Given the description of an element on the screen output the (x, y) to click on. 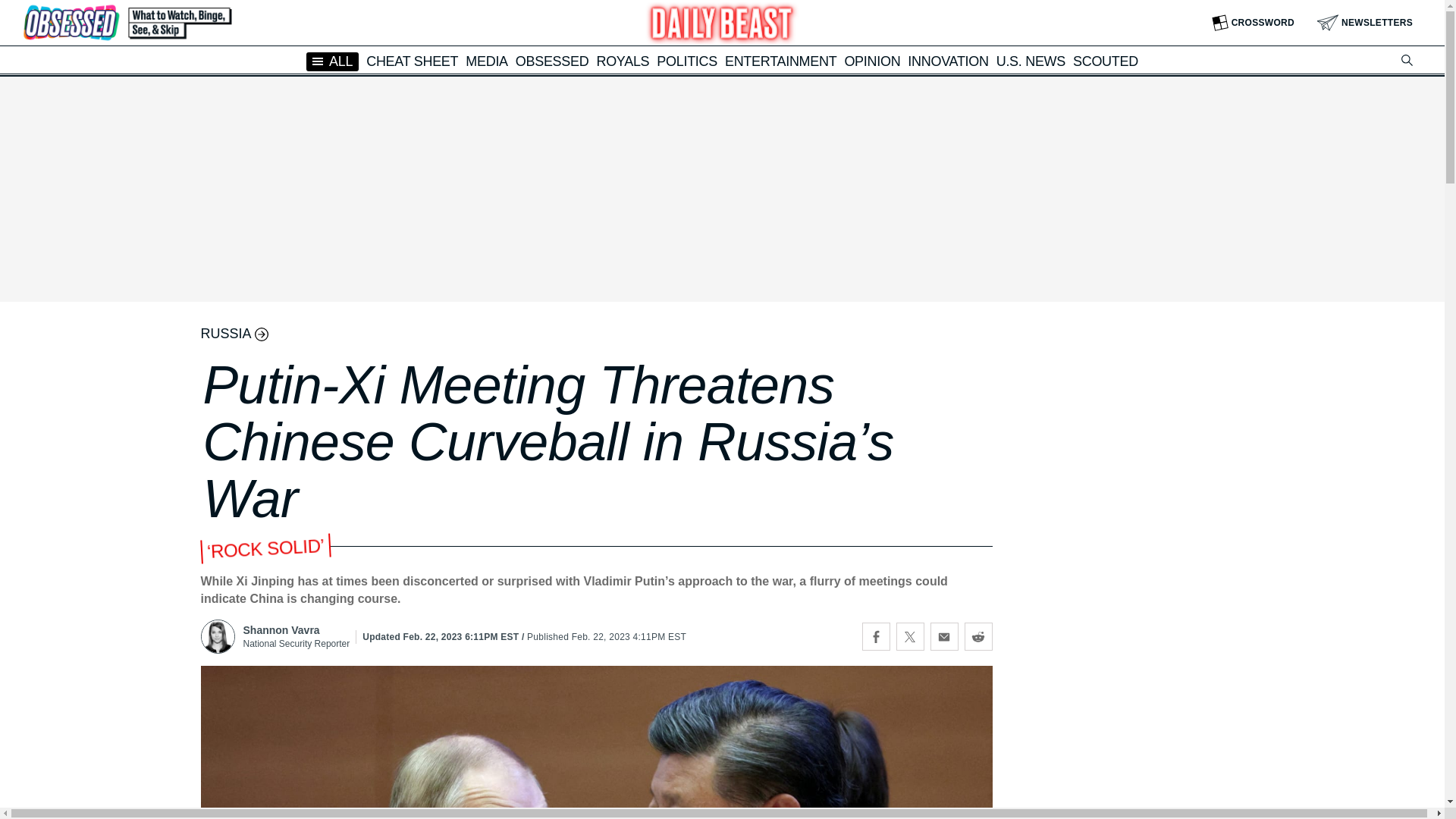
NEWSLETTERS (1364, 22)
ENTERTAINMENT (780, 60)
OBSESSED (552, 60)
CROSSWORD (1252, 22)
OPINION (871, 60)
U.S. NEWS (1030, 60)
SCOUTED (1105, 60)
ROYALS (622, 60)
MEDIA (486, 60)
POLITICS (686, 60)
